Given the description of an element on the screen output the (x, y) to click on. 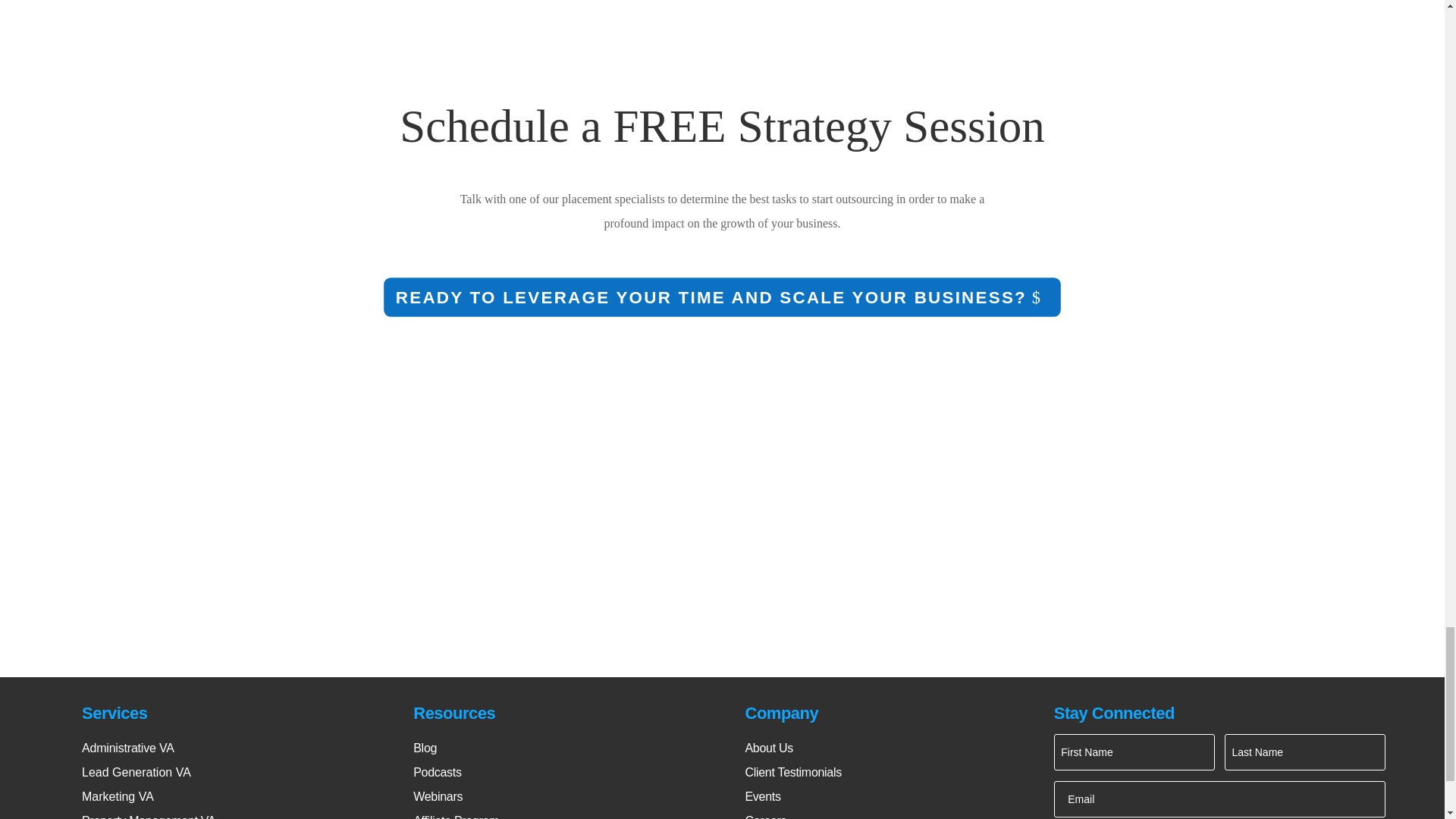
READY TO LEVERAGE YOUR TIME AND SCALE YOUR BUSINESS? (685, 294)
Administrative VA (127, 742)
Webinars (438, 798)
Property Management VA (148, 814)
Marketing VA (117, 798)
Client Testimonials (792, 774)
Lead Generation VA (135, 774)
Events (762, 798)
About Us (768, 742)
Podcasts (437, 774)
